Given the description of an element on the screen output the (x, y) to click on. 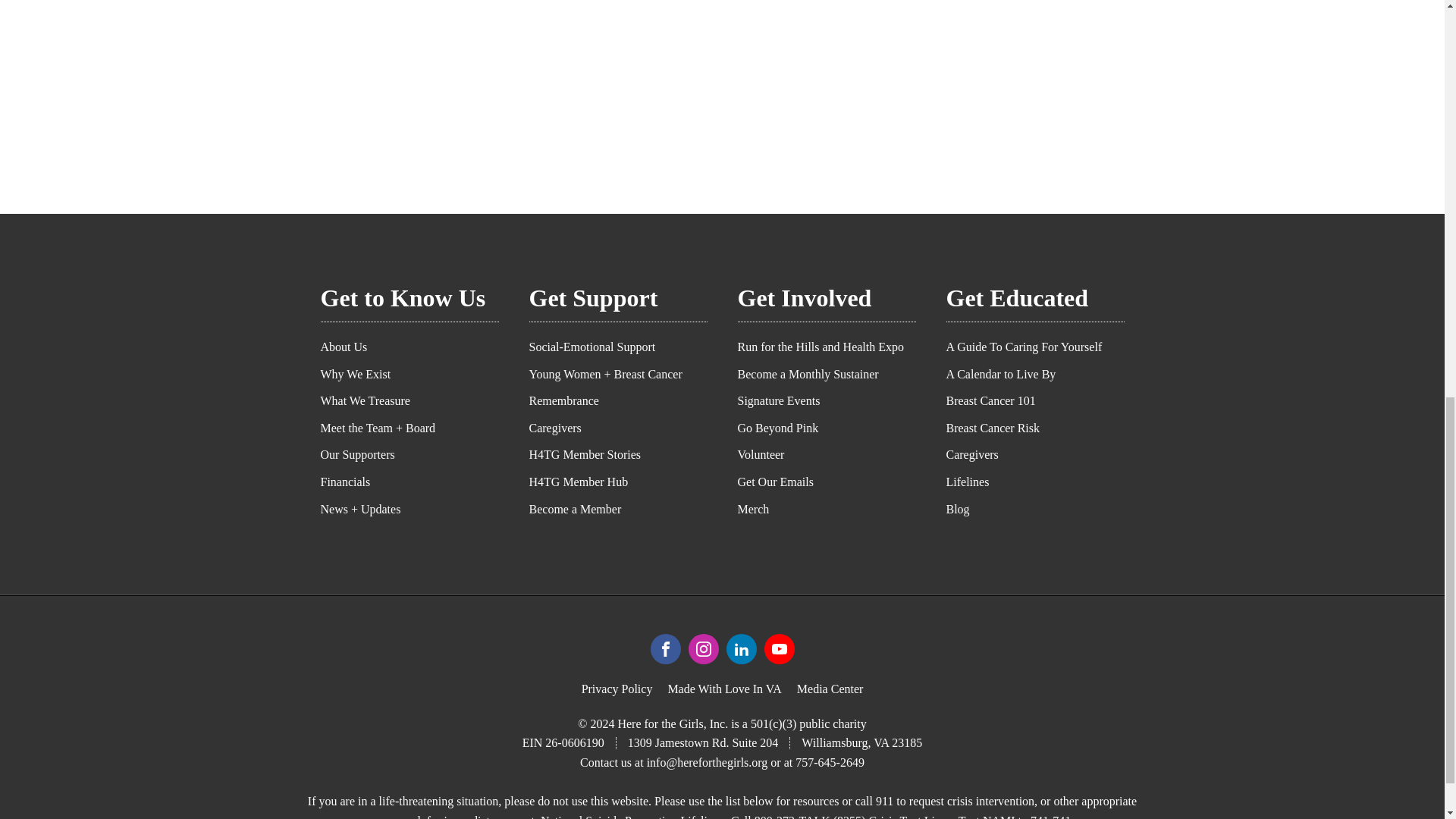
About Us (408, 347)
Remembrance (618, 400)
Become a Member (618, 509)
Why We Exist (408, 374)
Meet the Team (408, 428)
Caring Conversations Recap - January - March 2024 (555, 63)
Social-Emotional Support (618, 347)
H4TG Member Hub (618, 482)
About Us (408, 347)
Why We Exist (408, 374)
What We Treasure (408, 400)
Board of Directors  (408, 454)
Signature Events  (825, 400)
